Given the description of an element on the screen output the (x, y) to click on. 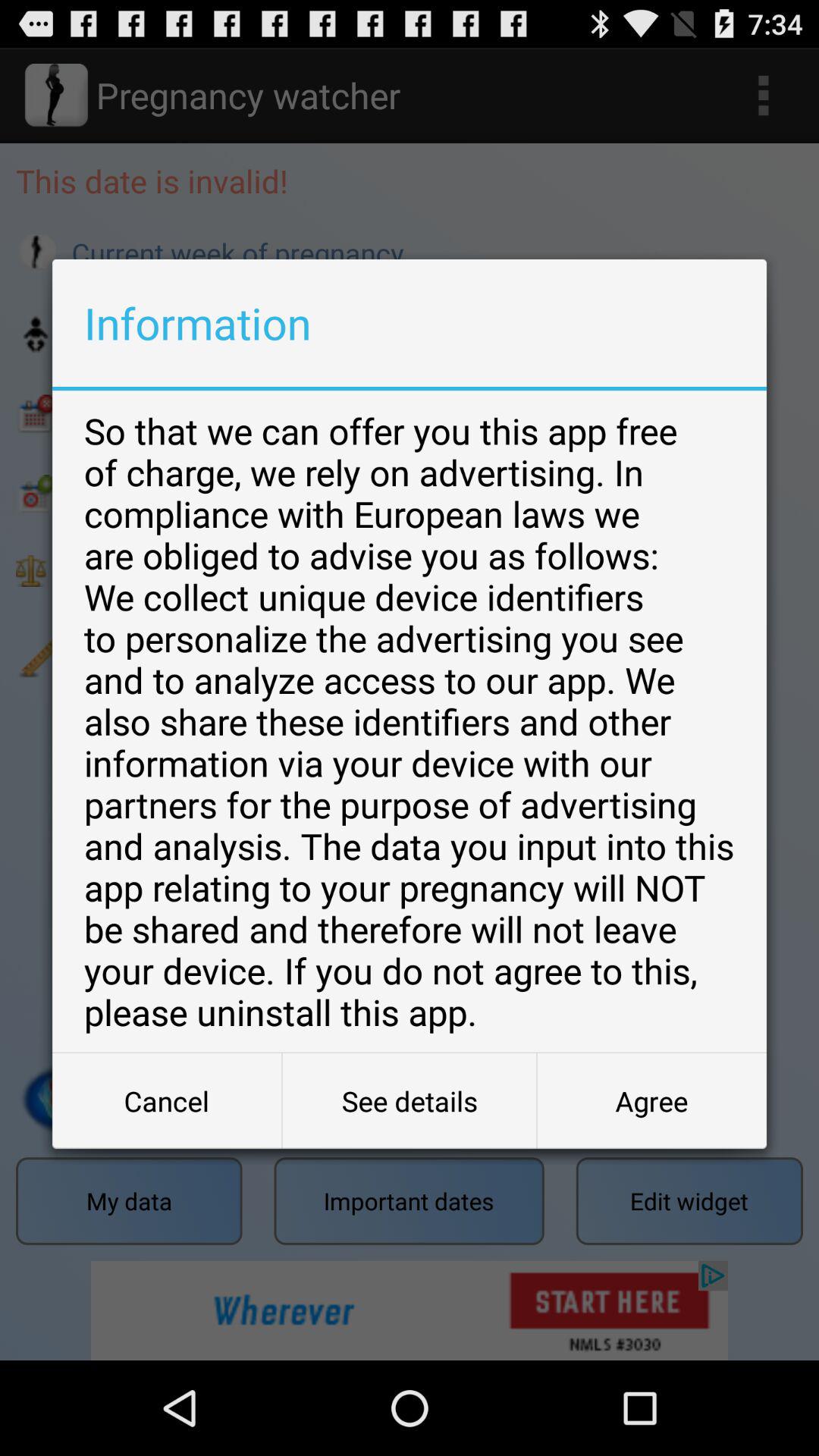
tap the icon next to see details button (166, 1100)
